Given the description of an element on the screen output the (x, y) to click on. 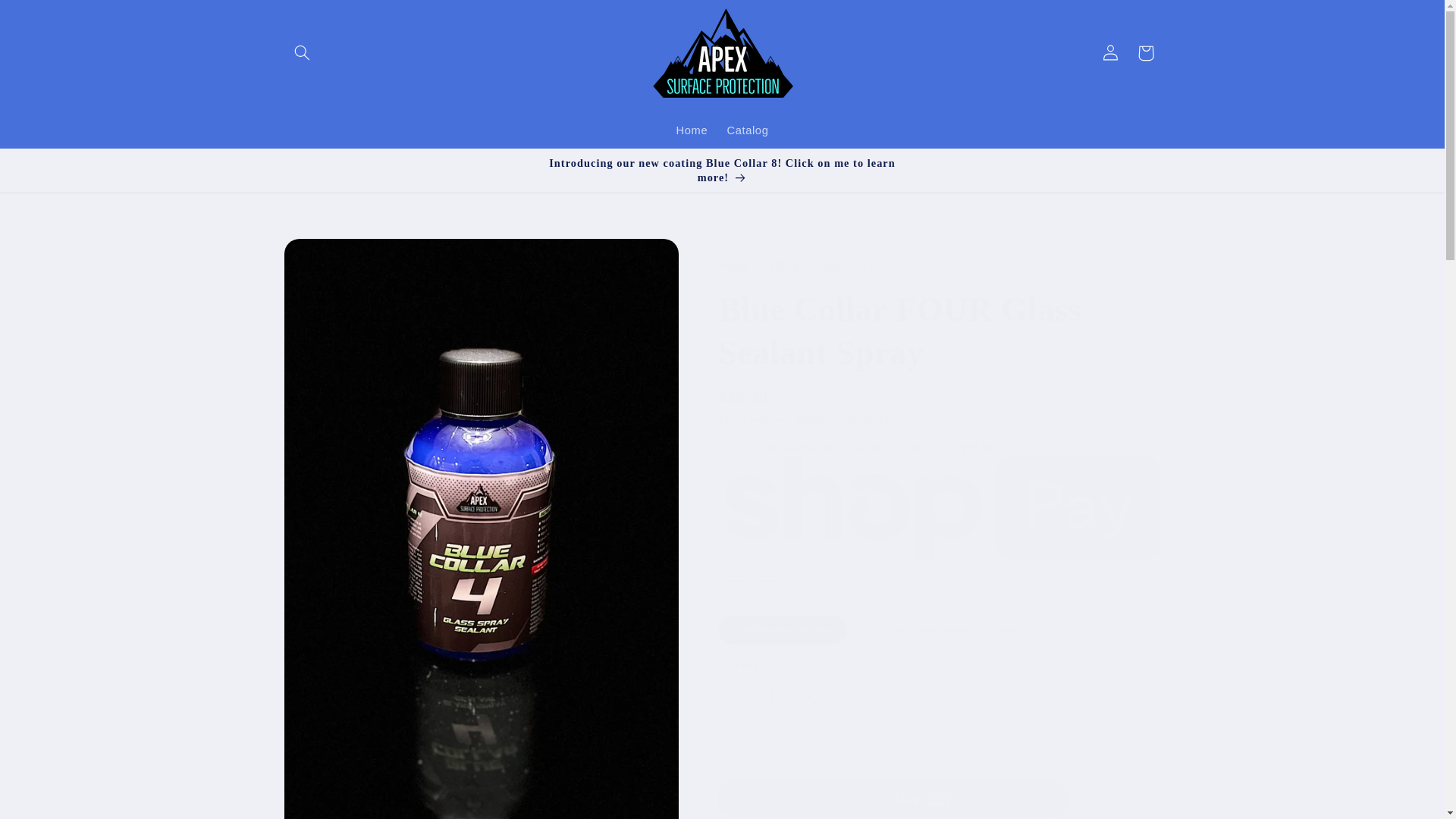
Log in (1110, 53)
Add to cart (892, 754)
Catalog (747, 131)
Increase quantity for Blue Collar FOUR Glass Sealant Spray (807, 696)
Decrease quantity for Blue Collar FOUR Glass Sealant Spray (735, 696)
1 (771, 696)
Skip to product information (331, 256)
Skip to content (48, 18)
Cart (1145, 53)
Home (691, 131)
Shipping (815, 419)
